Given the description of an element on the screen output the (x, y) to click on. 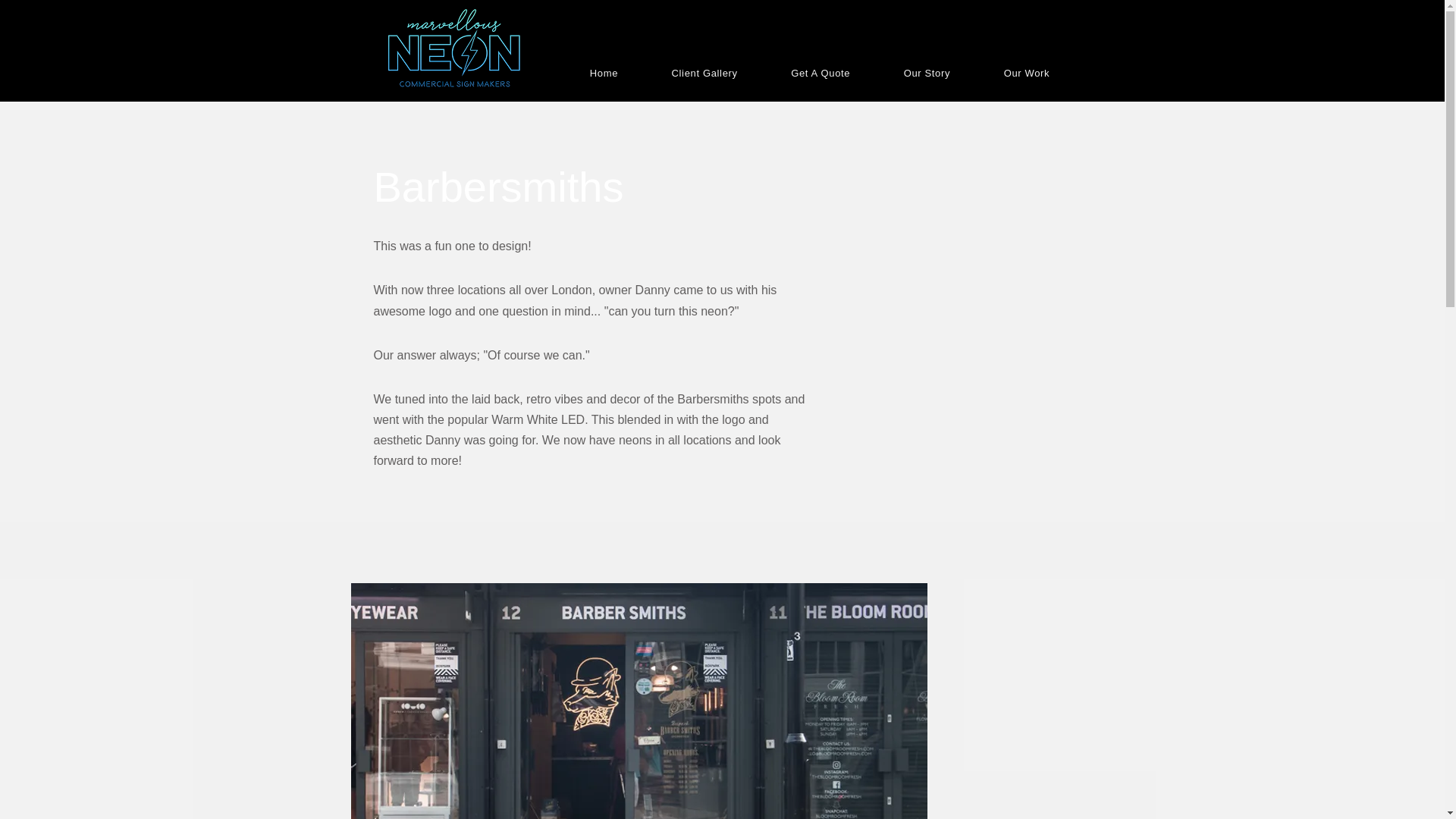
Our Story (926, 72)
Client Gallery (704, 72)
Comercial Logo.png (453, 48)
Get A Quote (820, 72)
Home (604, 72)
